Given the description of an element on the screen output the (x, y) to click on. 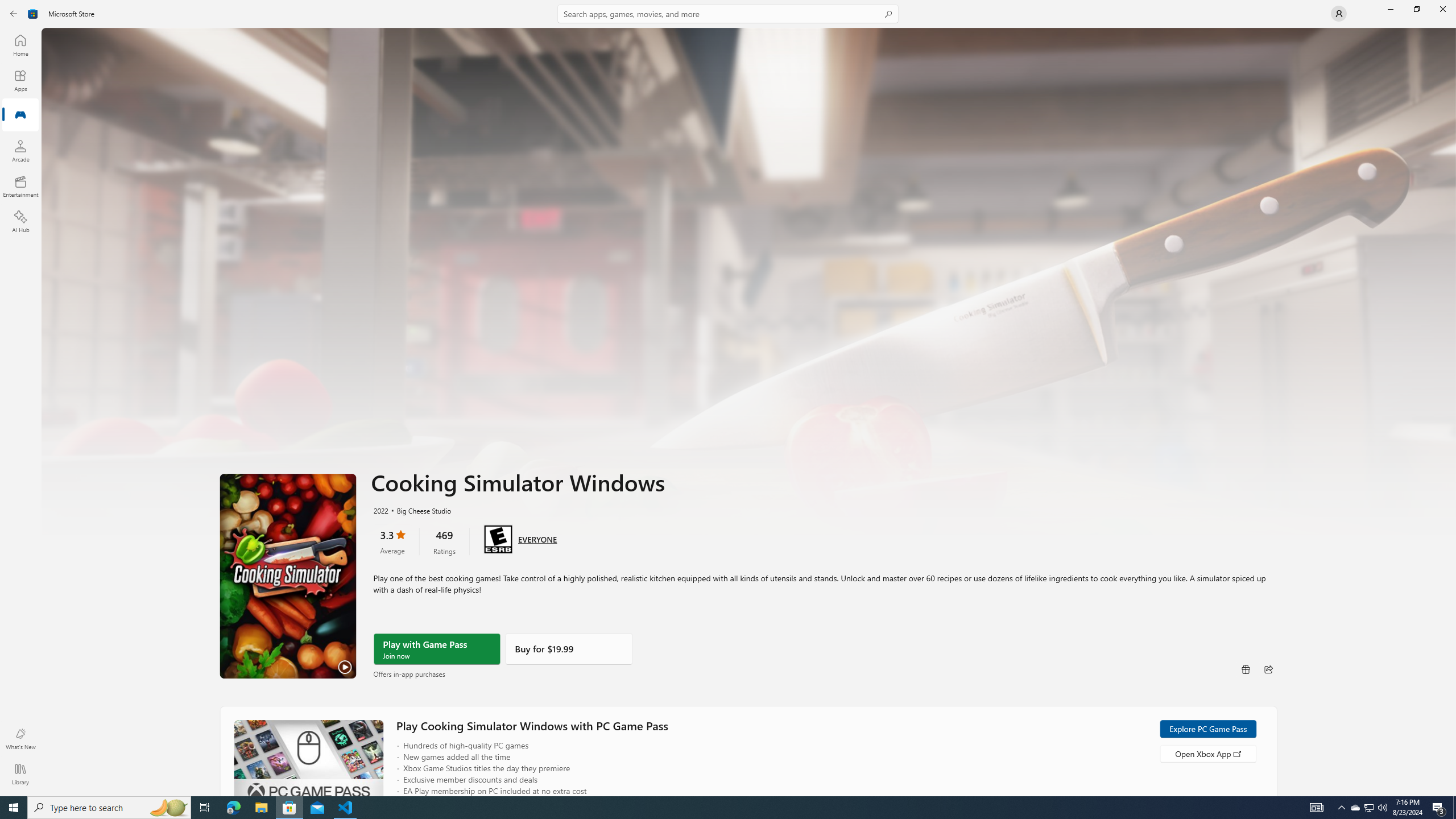
Arcade (20, 150)
AutomationID: NavigationControl (728, 398)
Play with Game Pass (436, 649)
Buy as gift (1245, 669)
Explore PC Game Pass (1207, 728)
Home (20, 45)
Minimize Microsoft Store (1390, 9)
Share (1267, 669)
Close Microsoft Store (1442, 9)
Play Trailer (287, 575)
Restore Microsoft Store (1416, 9)
Entertainment (20, 185)
Gaming (20, 115)
Big Cheese Studio (418, 510)
